Given the description of an element on the screen output the (x, y) to click on. 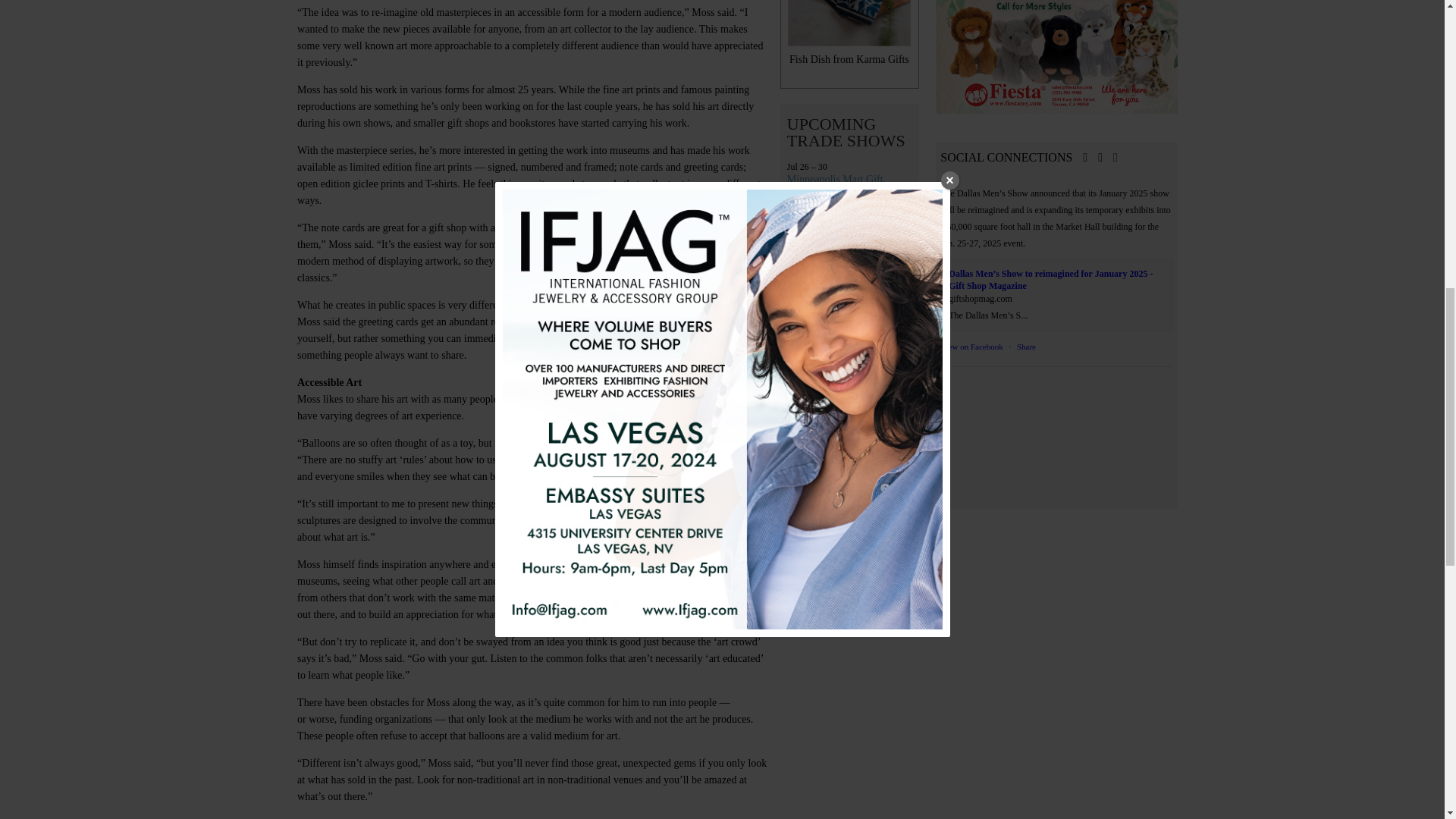
View on Facebook (971, 346)
Share (1025, 346)
Fiesta (1056, 59)
Likebox Iframe (1056, 439)
Fish Dish from Karma Gifts (849, 41)
Fish Dish from Karma Gifts (849, 41)
